Given the description of an element on the screen output the (x, y) to click on. 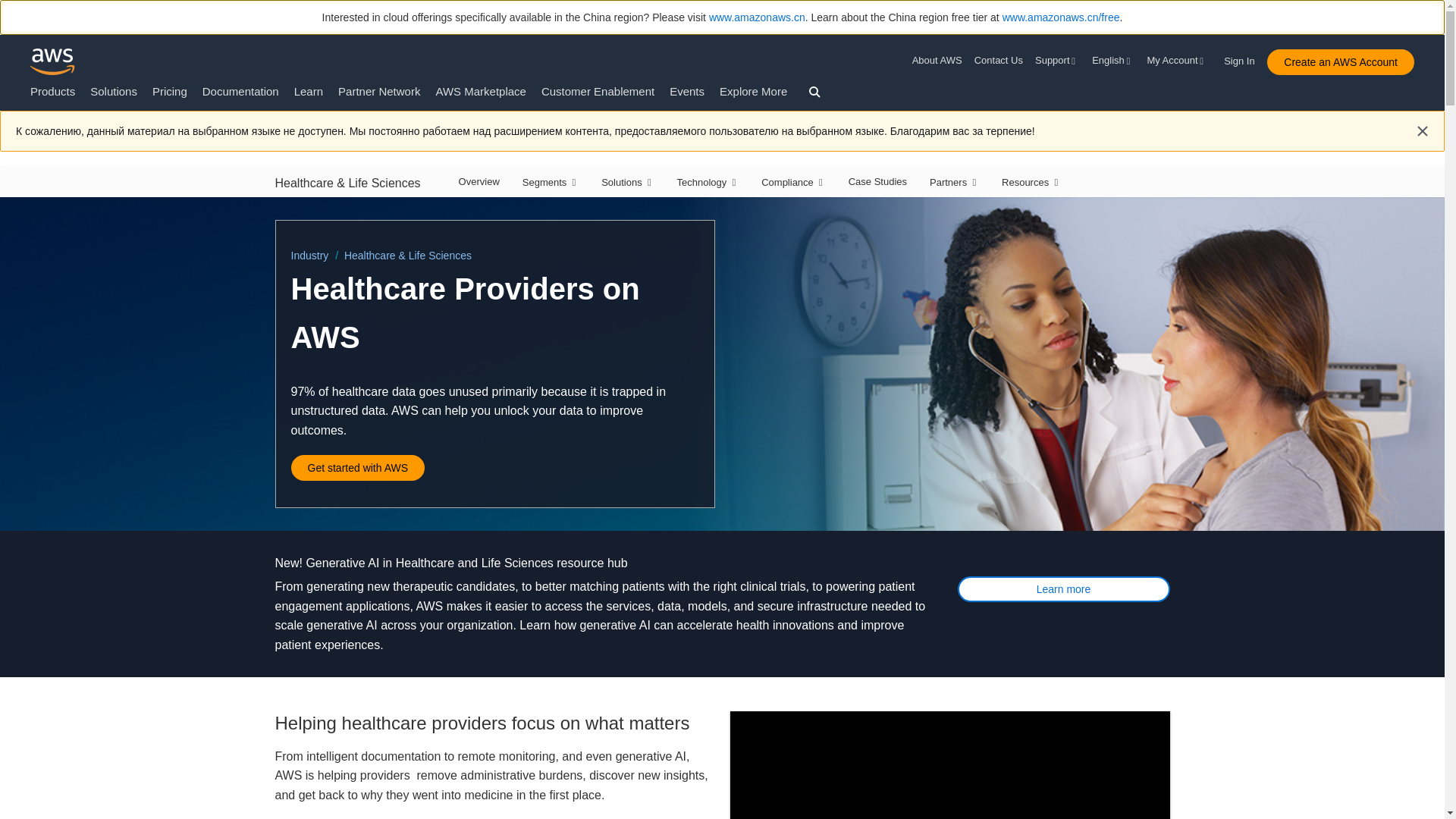
My Account  (1177, 60)
AWS Marketplace (480, 91)
Partner Network (378, 91)
Learn (308, 91)
Solutions (113, 91)
Click here to return to Amazon Web Services homepage (52, 61)
Contact Us (998, 60)
Documentation (240, 91)
English  (1113, 60)
Events (686, 91)
Skip to main content (7, 117)
About AWS (940, 60)
Create an AWS Account (1339, 62)
Customer Enablement (597, 91)
Explore More (753, 91)
